Given the description of an element on the screen output the (x, y) to click on. 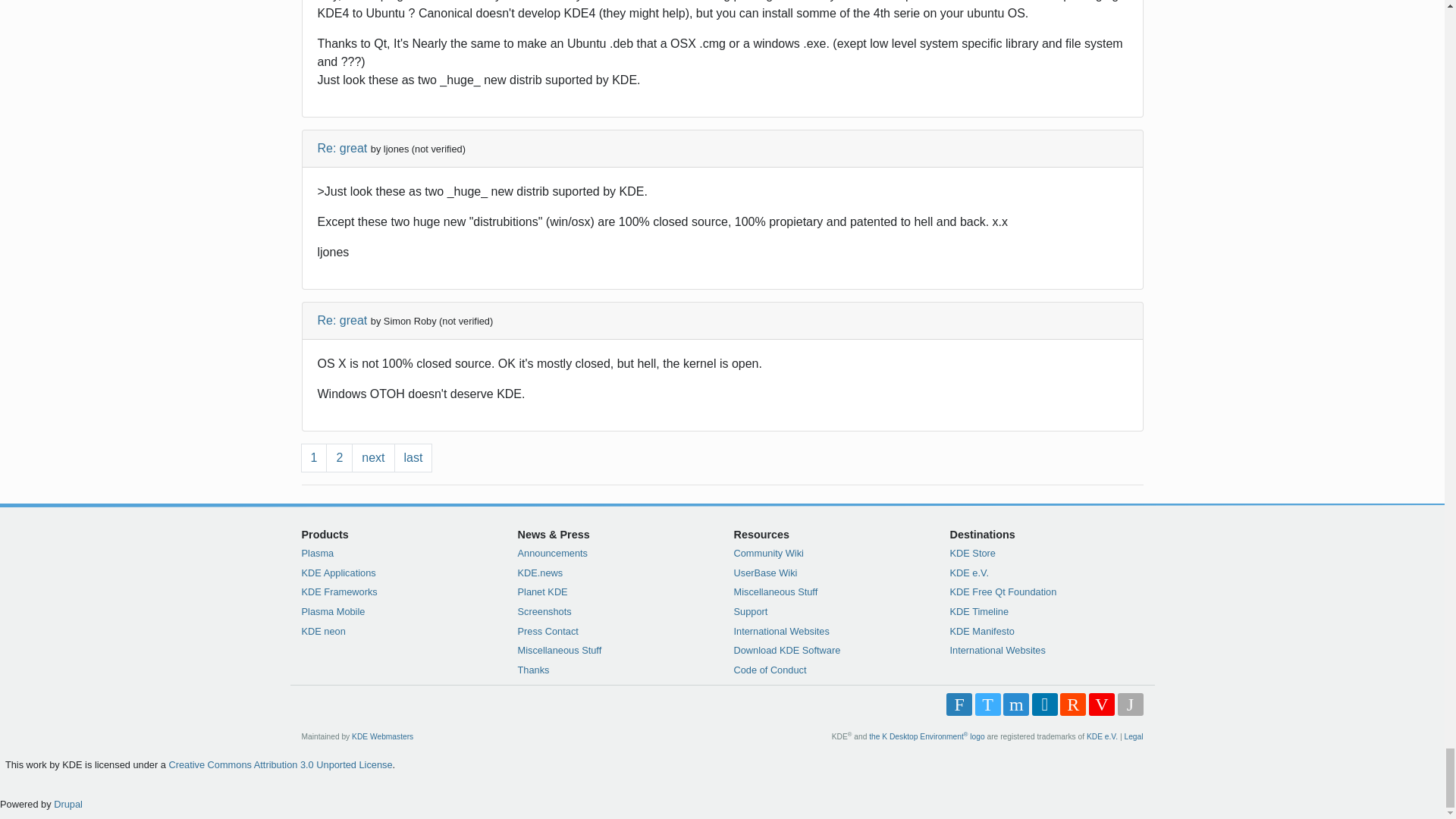
Homepage of the KDE non-profit Organization (1102, 736)
Go to page 2 (339, 457)
